Given the description of an element on the screen output the (x, y) to click on. 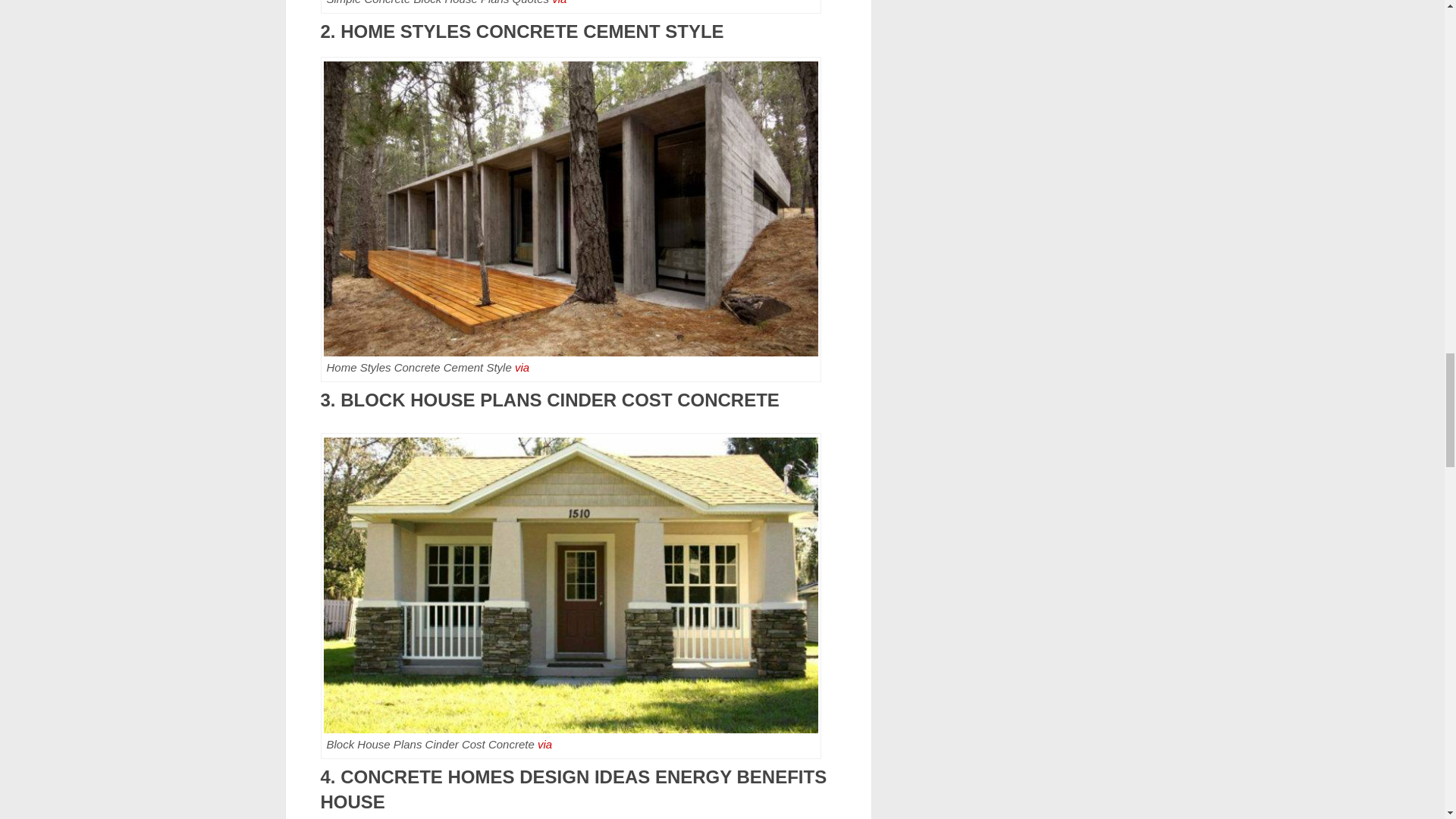
via (558, 2)
via (522, 367)
via (544, 744)
